Given the description of an element on the screen output the (x, y) to click on. 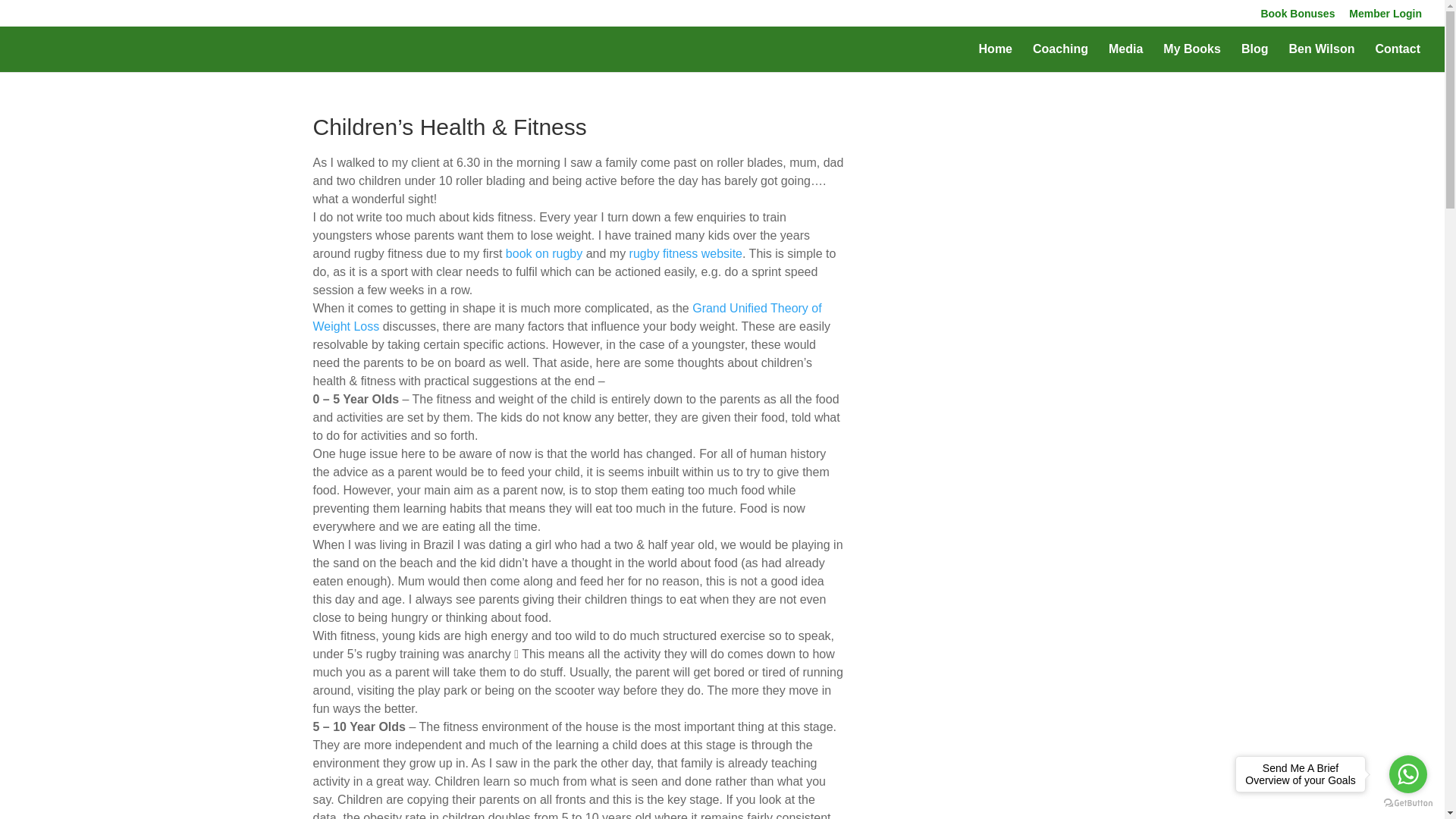
Grand Unified Theory of Weight Loss (567, 317)
Media (1125, 58)
book on rugby (543, 253)
My Books (1192, 58)
rugby fitness website (685, 253)
Ben Wilson (1321, 58)
Book Bonuses (1297, 16)
Coaching (1059, 58)
Member Login (1385, 16)
Blog (1254, 58)
Contact (1397, 58)
Home (994, 58)
